Given the description of an element on the screen output the (x, y) to click on. 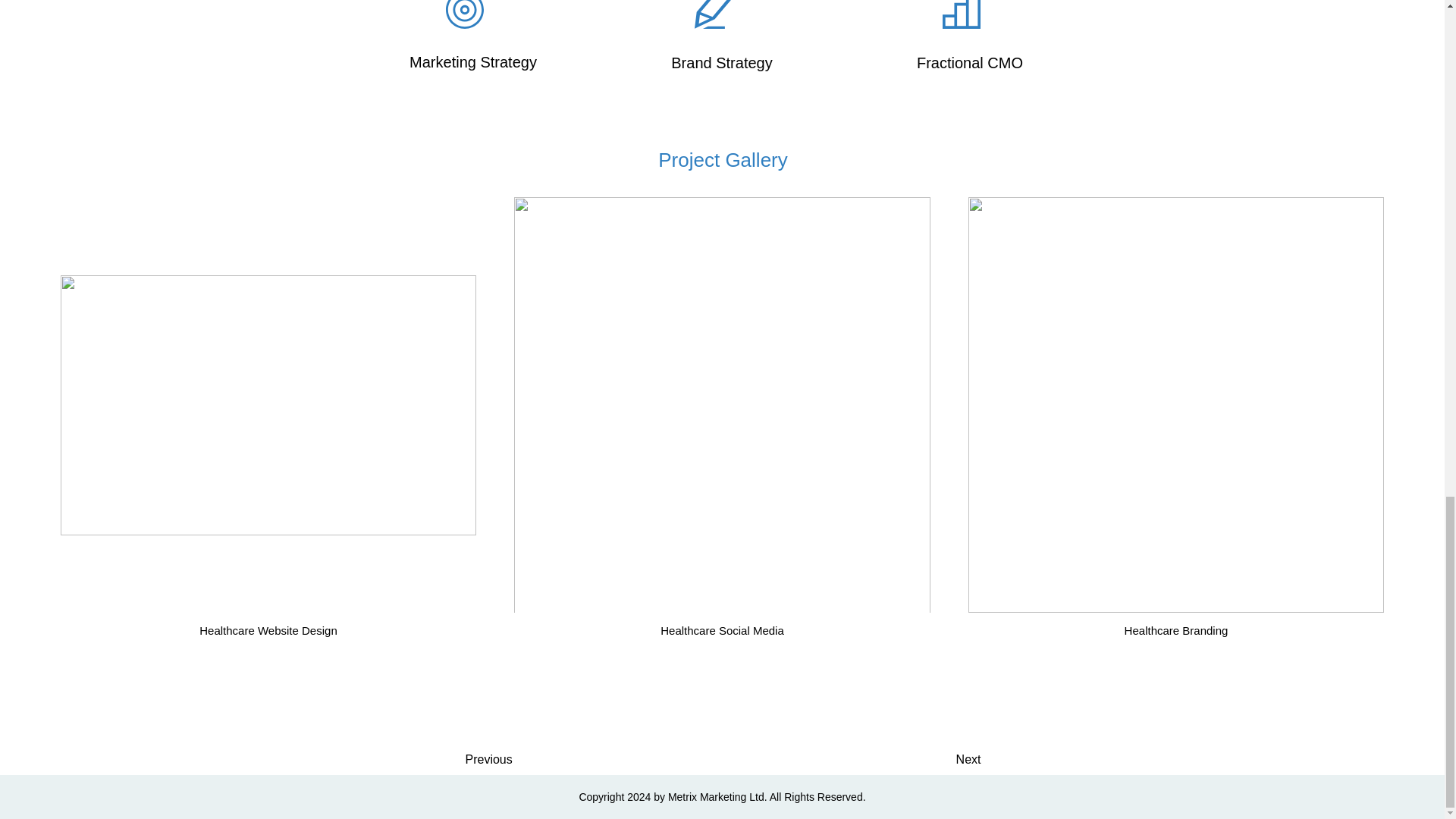
Next (928, 759)
Previous (526, 759)
